Given the description of an element on the screen output the (x, y) to click on. 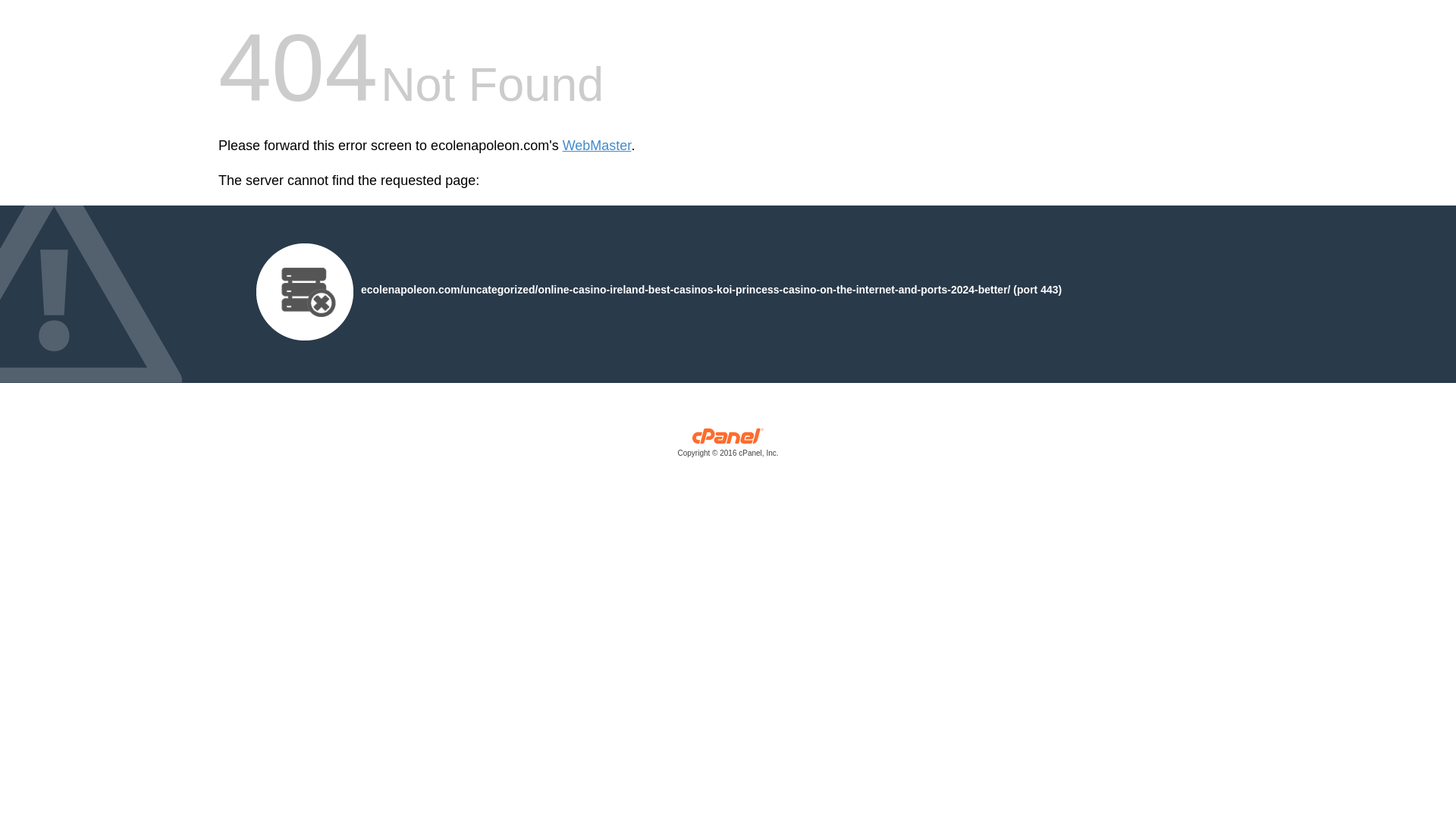
WebMaster (596, 145)
cPanel, Inc. (727, 446)
